Given the description of an element on the screen output the (x, y) to click on. 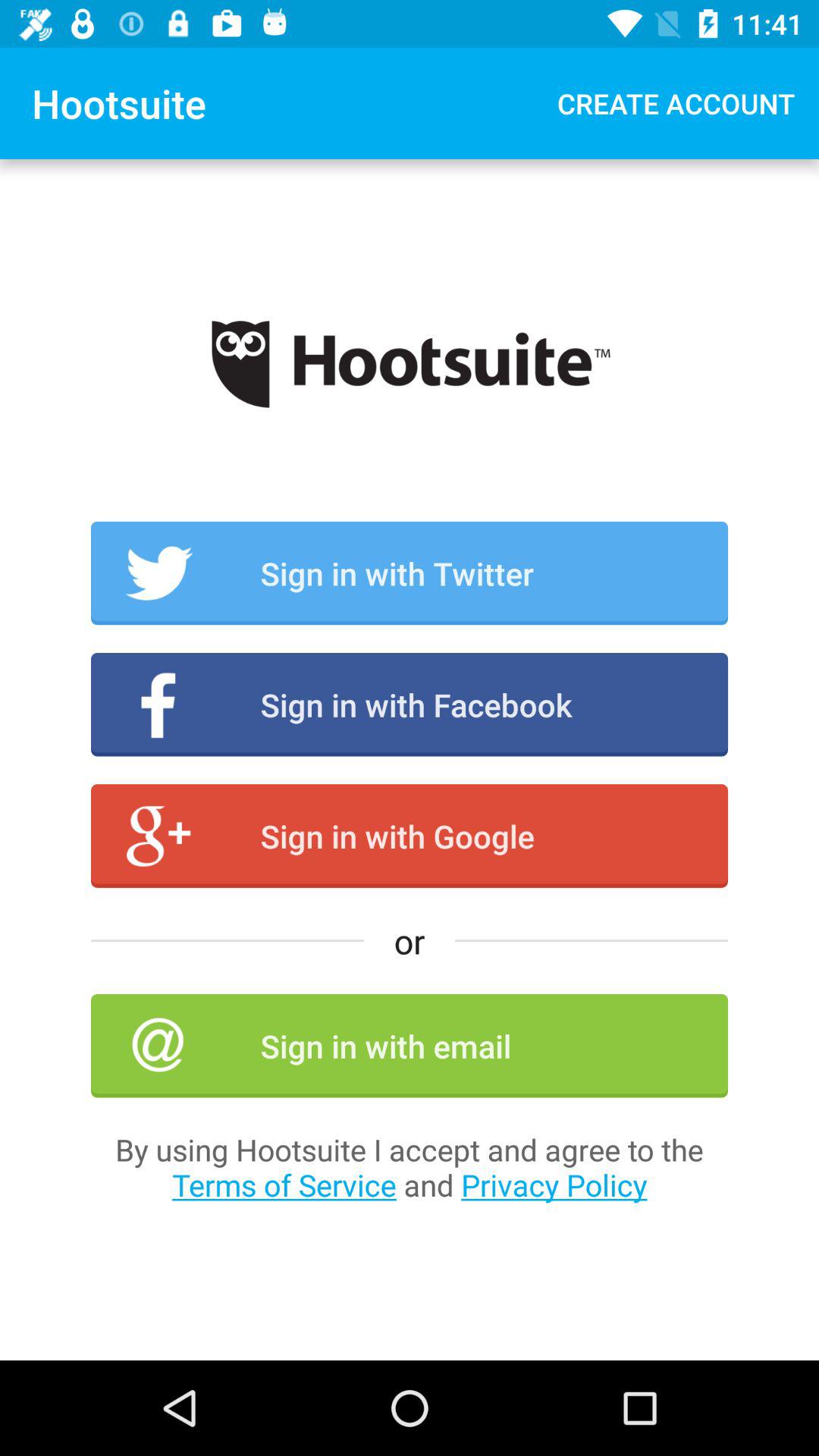
choose by using hootsuite (409, 1167)
